Given the description of an element on the screen output the (x, y) to click on. 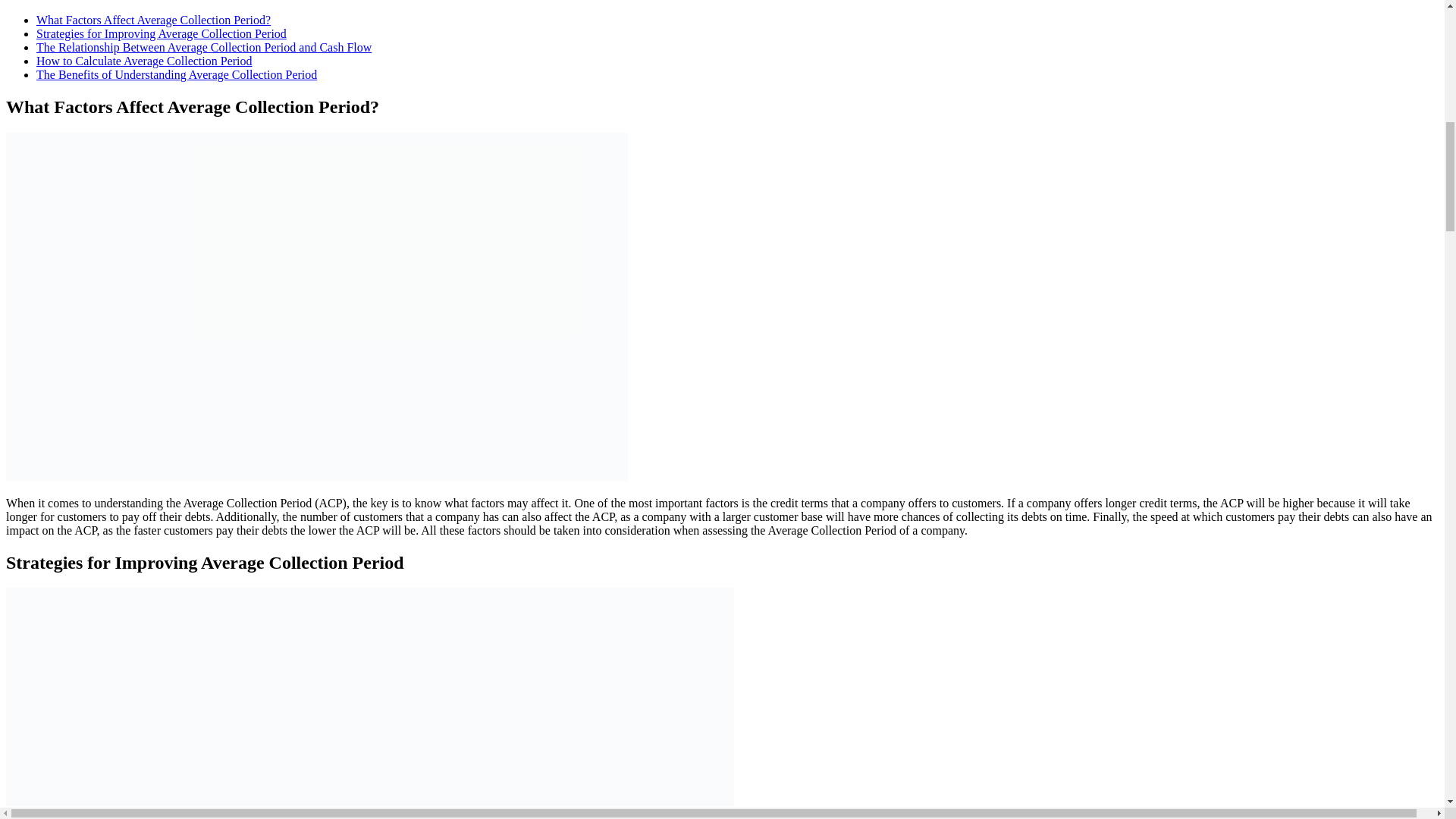
Strategies for Improving Average Collection Period (161, 33)
What Factors Affect Average Collection Period? (153, 19)
How to Calculate Average Collection Period  (143, 60)
How to Calculate Average Collection Period (143, 60)
The Benefits of Understanding Average Collection Period (176, 74)
Strategies for Improving Average Collection Period  (161, 33)
The Benefits of Understanding Average Collection Period (176, 74)
What Factors Affect Average Collection Period? (153, 19)
